Given the description of an element on the screen output the (x, y) to click on. 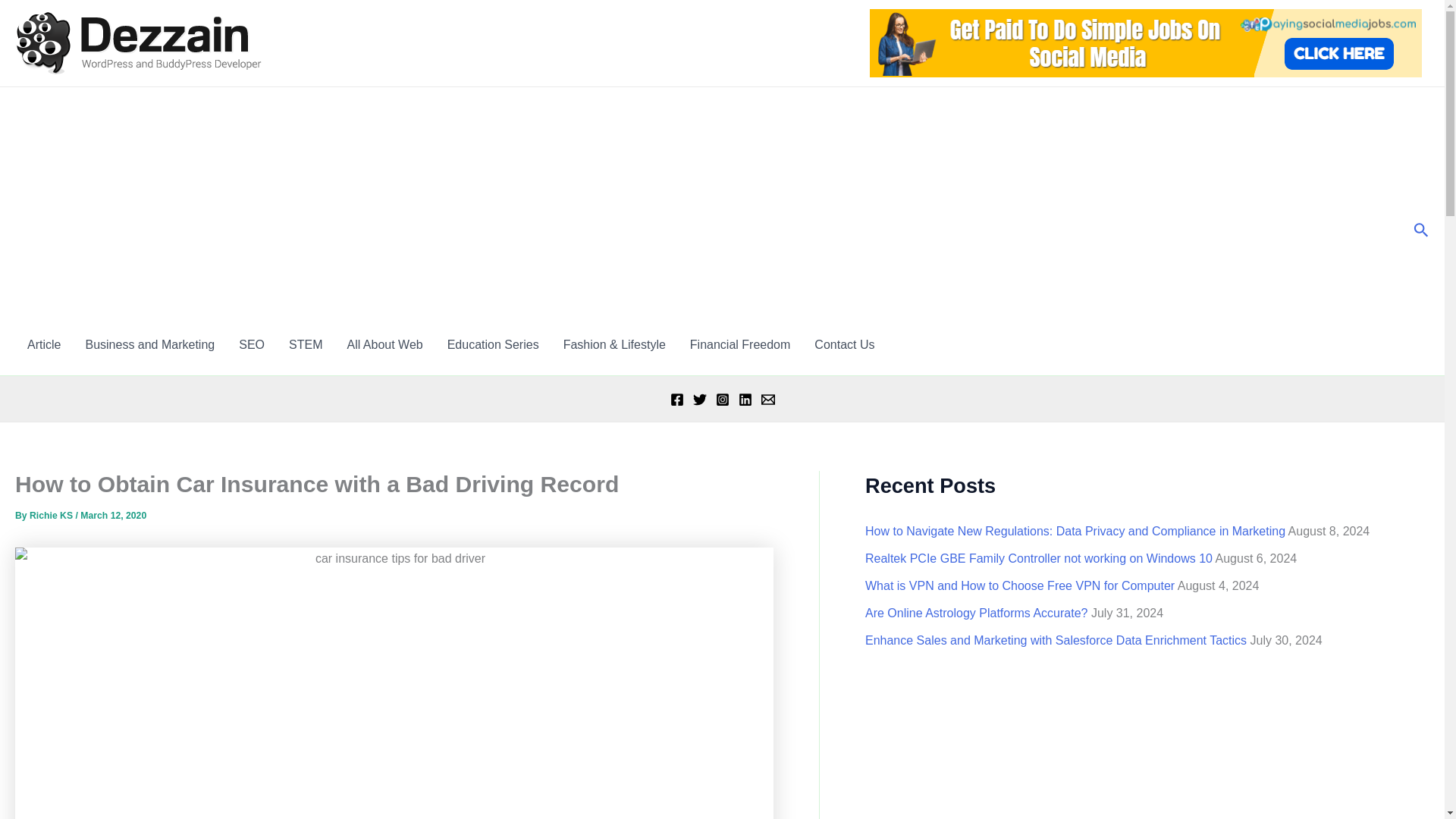
Financial Freedom (740, 344)
Contact Us (844, 344)
Article (43, 344)
Education Series (493, 344)
STEM (305, 344)
Richie KS (52, 515)
Business and Marketing (149, 344)
All About Web (383, 344)
View all posts by Richie KS (52, 515)
any inquiries? (844, 344)
